Given the description of an element on the screen output the (x, y) to click on. 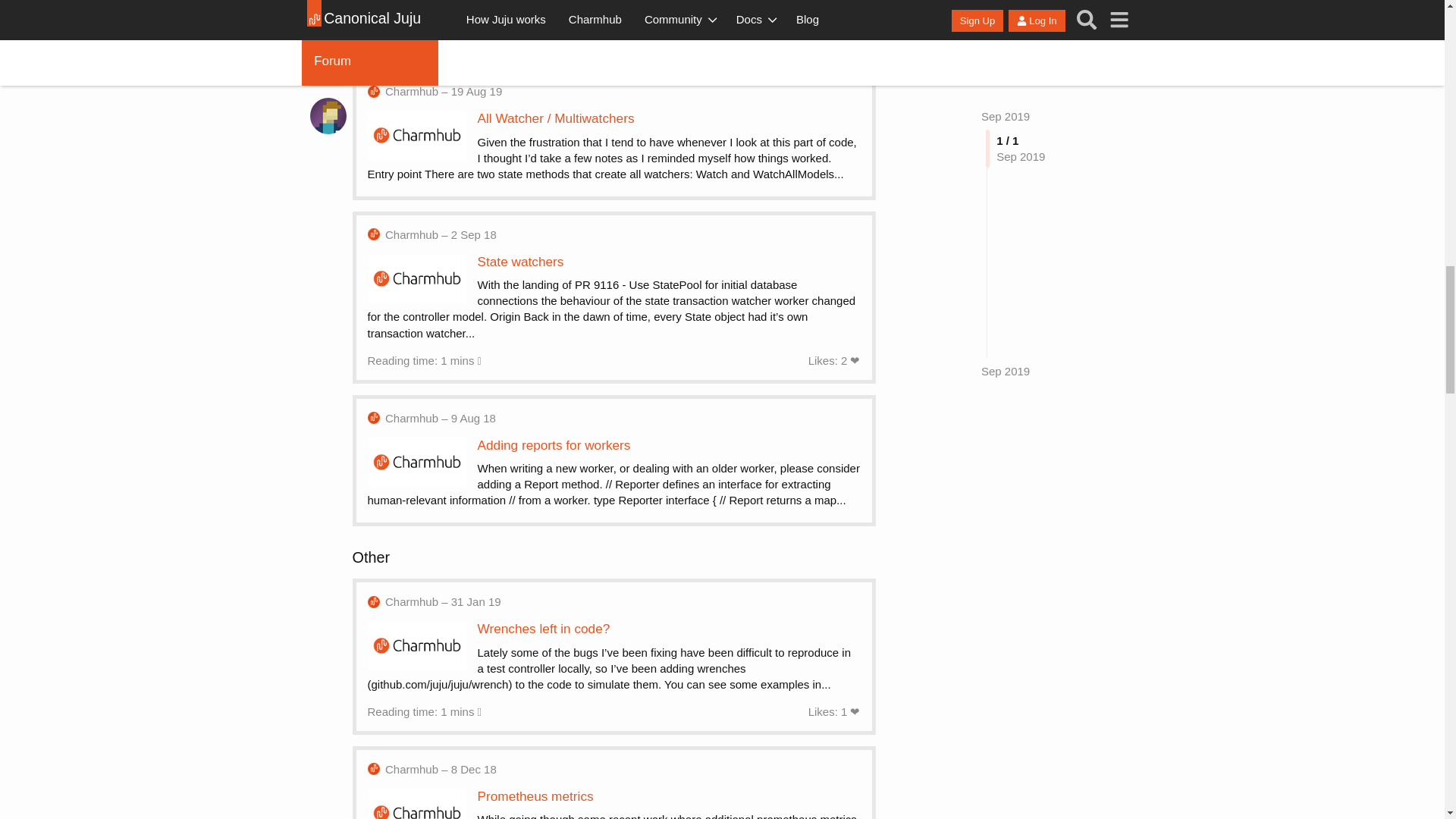
11:01PM - 02 September 2018 (440, 234)
10:55PM - 09 August 2018 (440, 417)
02:05AM - 19 August 2019 (443, 91)
